Given the description of an element on the screen output the (x, y) to click on. 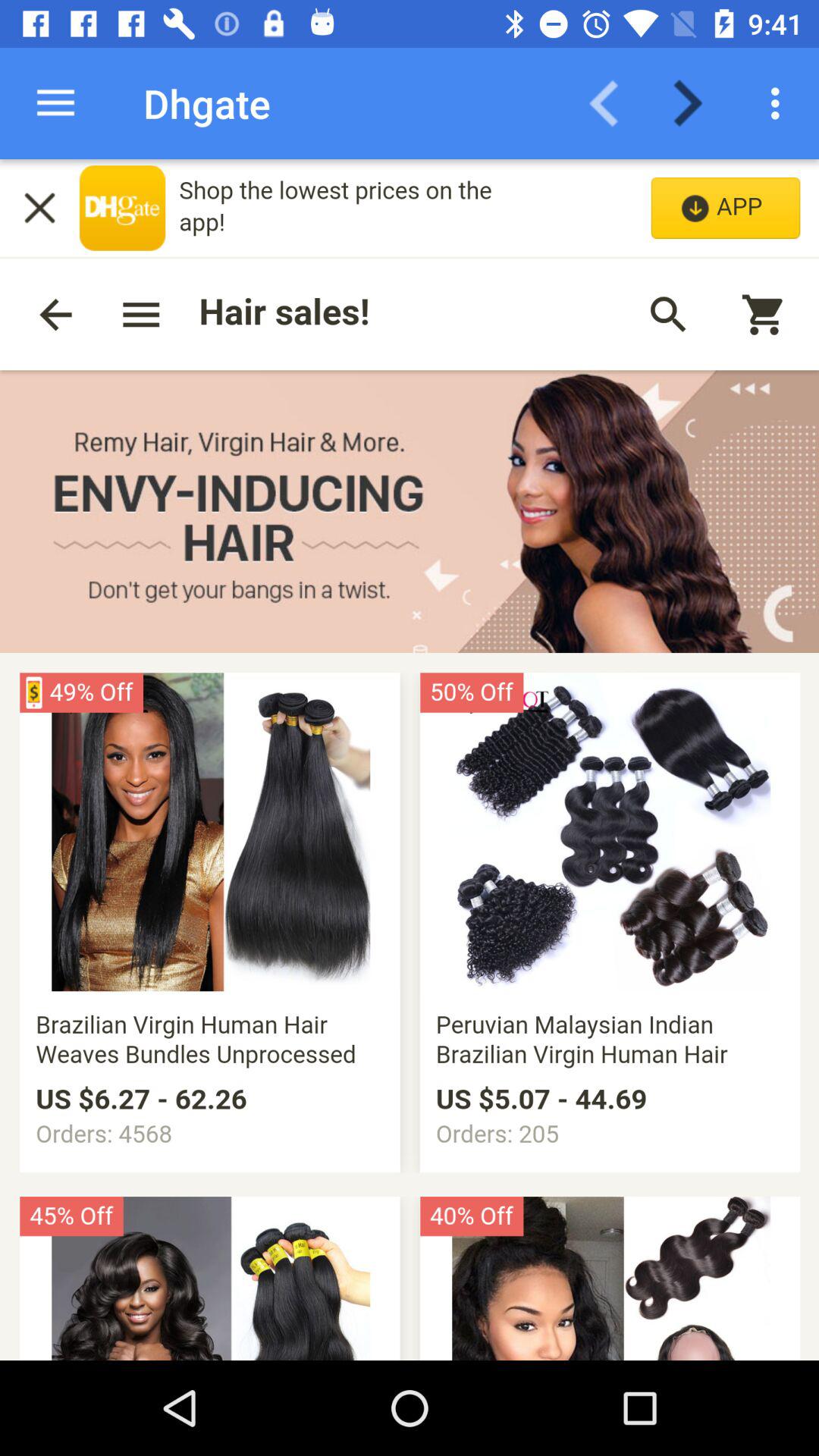
next selection (697, 103)
